Given the description of an element on the screen output the (x, y) to click on. 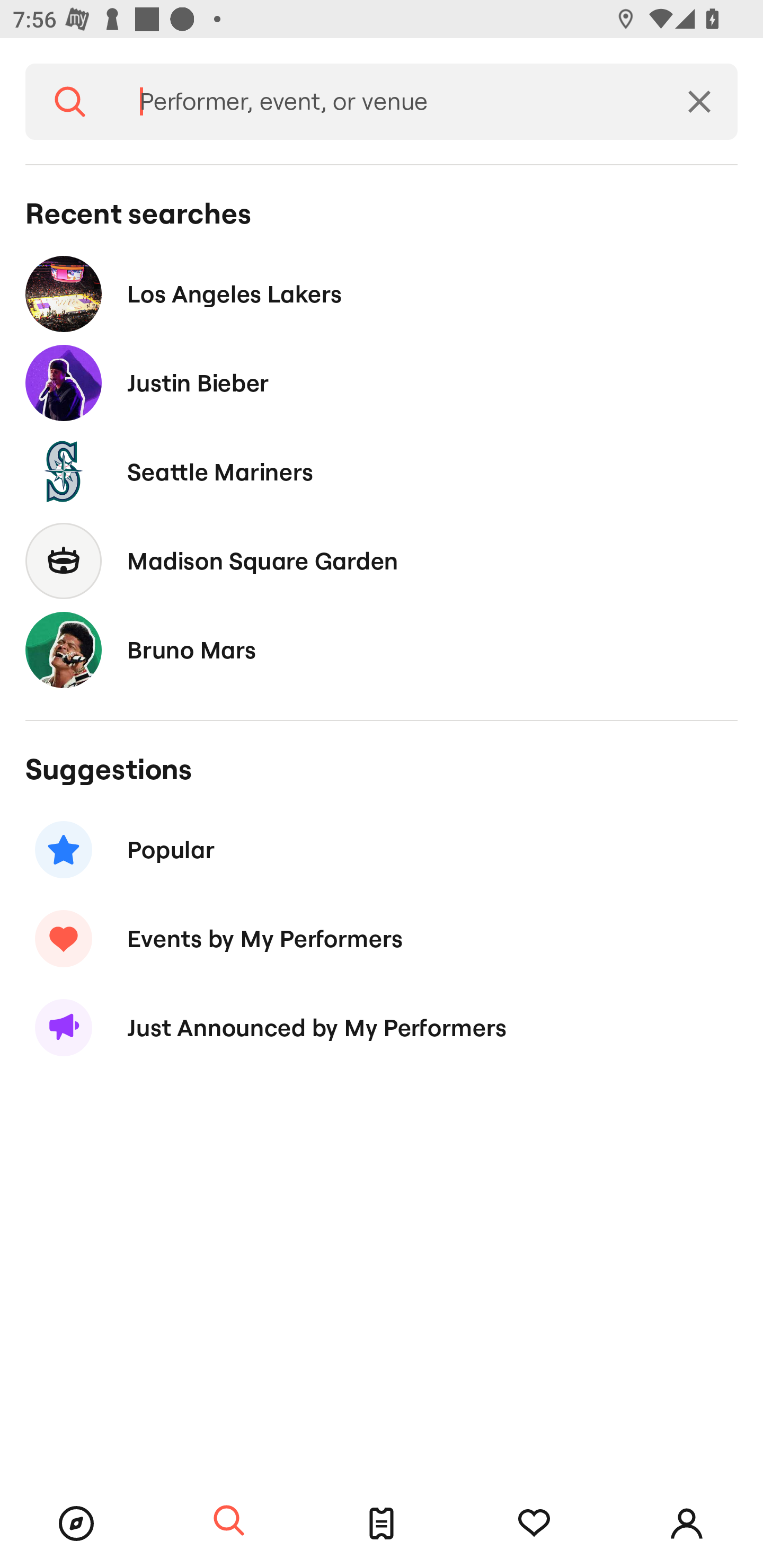
Search (69, 101)
Performer, event, or venue (387, 101)
Clear (699, 101)
Los Angeles Lakers (381, 293)
Justin Bieber (381, 383)
Seattle Mariners (381, 471)
Madison Square Garden (381, 560)
Bruno Mars (381, 649)
Popular (381, 849)
Events by My Performers (381, 938)
Just Announced by My Performers (381, 1027)
Browse (76, 1523)
Search (228, 1521)
Tickets (381, 1523)
Tracking (533, 1523)
Account (686, 1523)
